Given the description of an element on the screen output the (x, y) to click on. 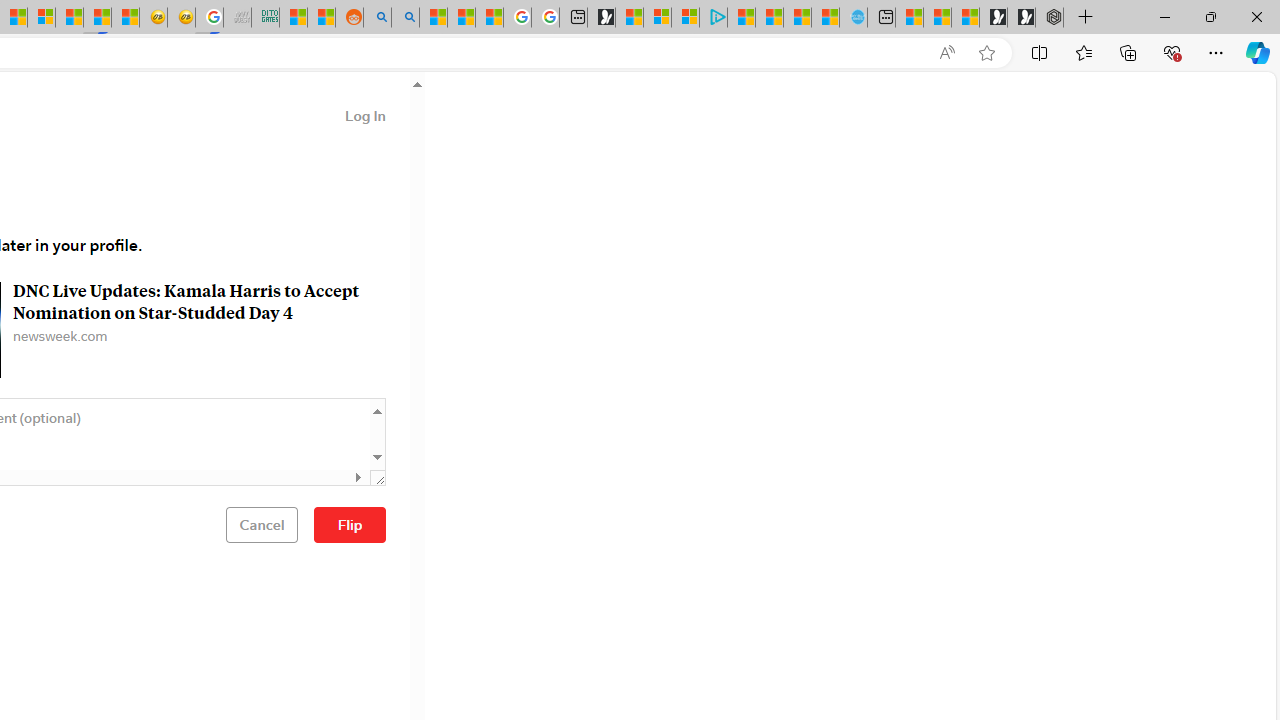
Flip (349, 524)
Microsoft Start Gaming (601, 17)
